Given the description of an element on the screen output the (x, y) to click on. 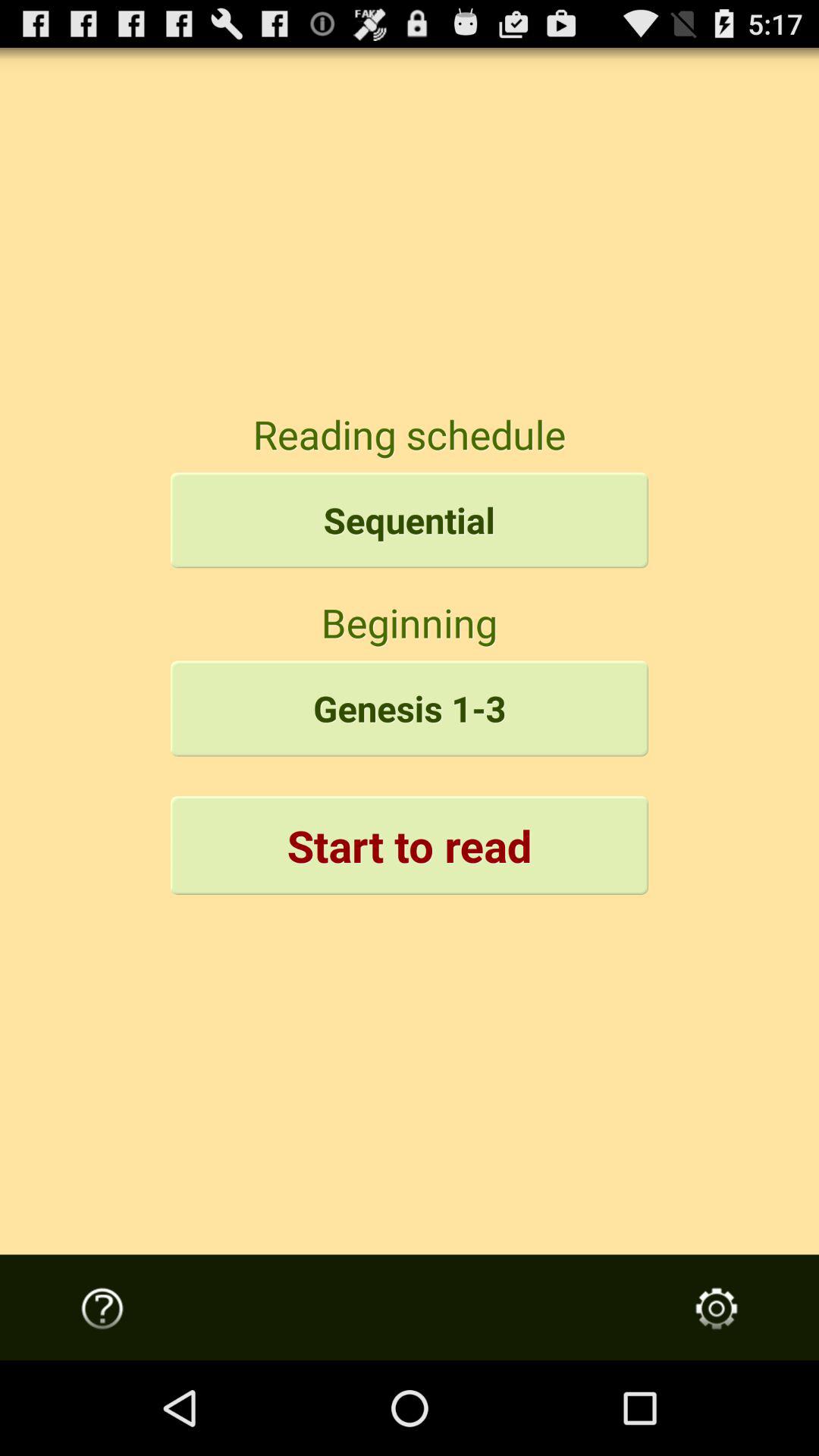
scroll to the genesis 1-3 (409, 708)
